Given the description of an element on the screen output the (x, y) to click on. 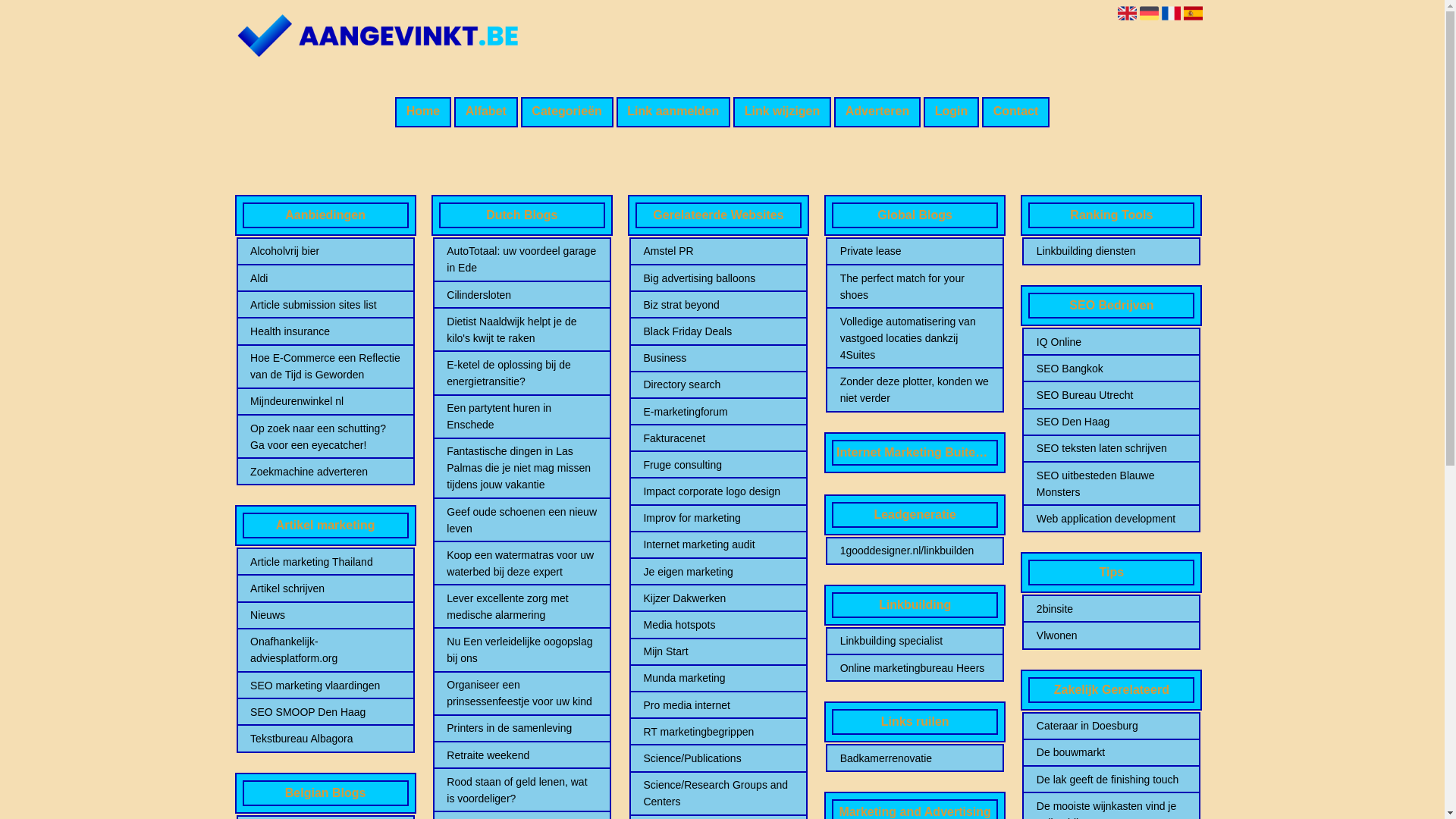
SEO Den Haag Element type: text (1111, 421)
Zonder deze plotter, konden we niet verder Element type: text (915, 389)
Home Element type: text (423, 112)
Aldi Element type: text (325, 277)
Business Element type: text (718, 357)
Een partytent huren in Enschede Element type: text (521, 416)
Health insurance Element type: text (325, 331)
Online marketingbureau Heers Element type: text (915, 667)
Badkamerrenovatie Element type: text (915, 757)
Media hotspots Element type: text (718, 624)
SEO marketing vlaardingen Element type: text (325, 685)
Organiseer een prinsessenfeestje voor uw kind Element type: text (521, 692)
Geef oude schoenen een nieuw leven Element type: text (521, 519)
SEO SMOOP Den Haag Element type: text (325, 711)
Cilindersloten Element type: text (521, 294)
Link wijzigen Element type: text (782, 112)
Improv for marketing Element type: text (718, 517)
SEO uitbesteden Blauwe Monsters Element type: text (1111, 483)
Nu Een verleidelijke oogopslag bij ons Element type: text (521, 649)
RT marketingbegrippen Element type: text (718, 731)
Adverteren Element type: text (877, 112)
Je eigen marketing Element type: text (718, 571)
Printers in de samenleving Element type: text (521, 727)
SEO Bureau Utrecht Element type: text (1111, 394)
IQ Online Element type: text (1111, 341)
Alcoholvrij bier Element type: text (325, 250)
Cateraar in Doesburg Element type: text (1111, 725)
Big advertising balloons Element type: text (718, 277)
Web application development Element type: text (1111, 518)
Retraite weekend Element type: text (521, 754)
Onafhankelijk-adviesplatform.org Element type: text (325, 649)
Tekstbureau Albagora Element type: text (325, 738)
Pro media internet Element type: text (718, 704)
Dietist Naaldwijk helpt je de kilo's kwijt te raken Element type: text (521, 329)
Linkbuilding specialist Element type: text (915, 640)
Link aanmelden Element type: text (672, 112)
Rood staan of geld lenen, wat is voordeliger? Element type: text (521, 789)
1gooddesigner.nl/linkbuilden Element type: text (915, 550)
Alfabet Element type: text (485, 112)
The perfect match for your shoes Element type: text (915, 286)
Article submission sites list Element type: text (325, 304)
Contact Element type: text (1015, 112)
Fakturacenet Element type: text (718, 437)
Artikel schrijven Element type: text (325, 588)
2binsite Element type: text (1111, 608)
E-ketel de oplossing bij de energietransitie? Element type: text (521, 372)
Biz strat beyond Element type: text (718, 304)
Munda marketing Element type: text (718, 677)
Mijn Start Element type: text (718, 651)
De lak geeft de finishing touch Element type: text (1111, 779)
AutoTotaal: uw voordeel garage in Ede Element type: text (521, 259)
Zoekmachine adverteren Element type: text (325, 471)
Article marketing Thailand Element type: text (325, 561)
Fruge consulting Element type: text (718, 464)
E-marketingforum Element type: text (718, 411)
Login Element type: text (951, 112)
Internet marketing audit Element type: text (718, 544)
Directory search Element type: text (718, 384)
Black Friday Deals Element type: text (718, 331)
Koop een watermatras voor uw waterbed bij deze expert Element type: text (521, 563)
Science/Publications Element type: text (718, 757)
Vlwonen Element type: text (1111, 635)
Science/Research Groups and Centers Element type: text (718, 792)
Op zoek naar een schutting? Ga voor een eyecatcher! Element type: text (325, 436)
Linkbuilding diensten Element type: text (1111, 250)
Nieuws Element type: text (325, 614)
Amstel PR Element type: text (718, 250)
SEO teksten laten schrijven Element type: text (1111, 447)
De bouwmarkt Element type: text (1111, 751)
Lever excellente zorg met medische alarmering Element type: text (521, 606)
SEO Bangkok Element type: text (1111, 368)
Hoe E-Commerce een Reflectie van de Tijd is Geworden Element type: text (325, 365)
Private lease Element type: text (915, 250)
Impact corporate logo design Element type: text (718, 491)
Kijzer Dakwerken Element type: text (718, 597)
Mijndeurenwinkel nl Element type: text (325, 400)
